Given the description of an element on the screen output the (x, y) to click on. 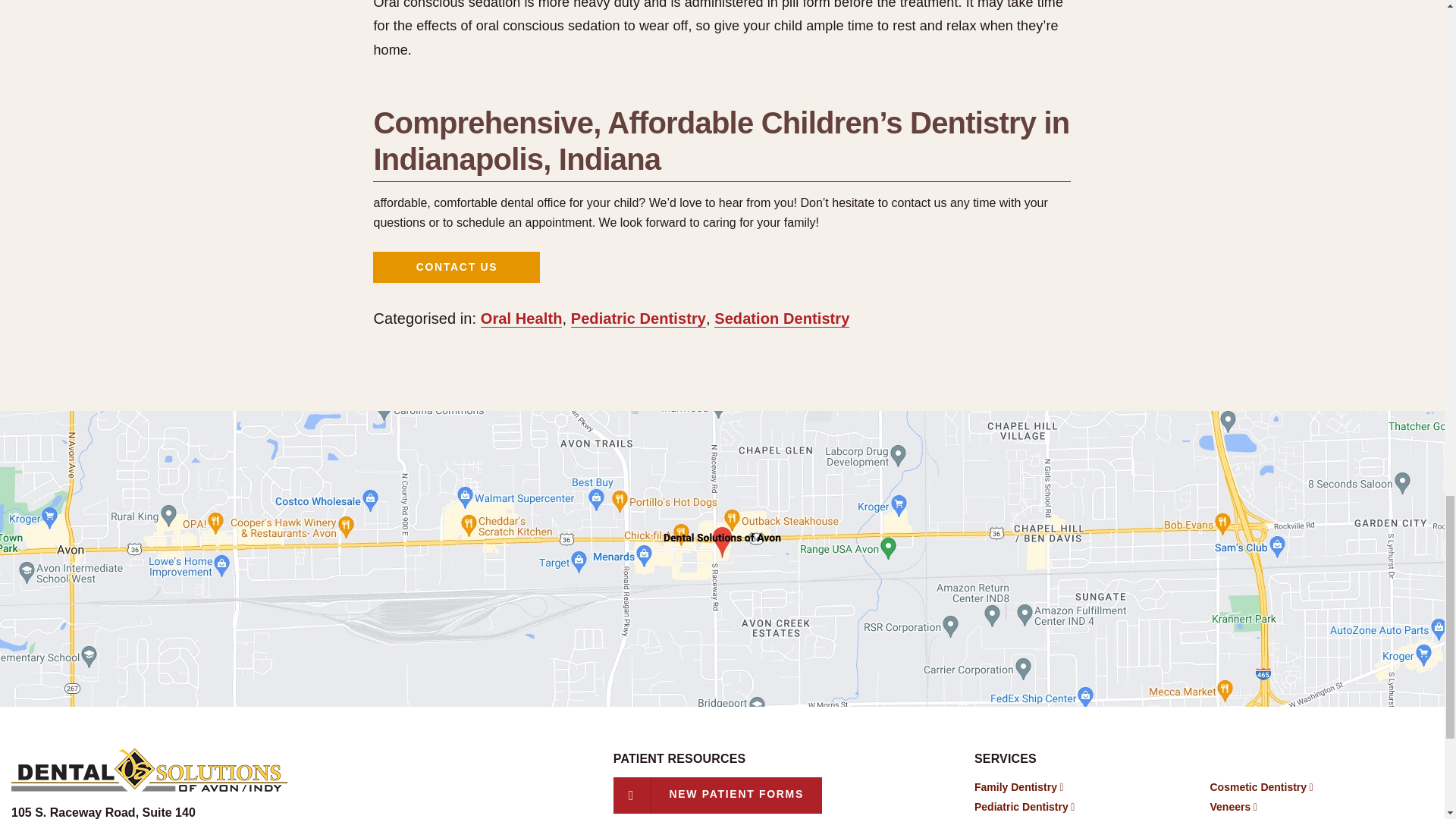
Oral Health (521, 318)
Sedation Dentistry (781, 318)
CONTACT US (456, 266)
Pediatric Dentistry (103, 812)
